Given the description of an element on the screen output the (x, y) to click on. 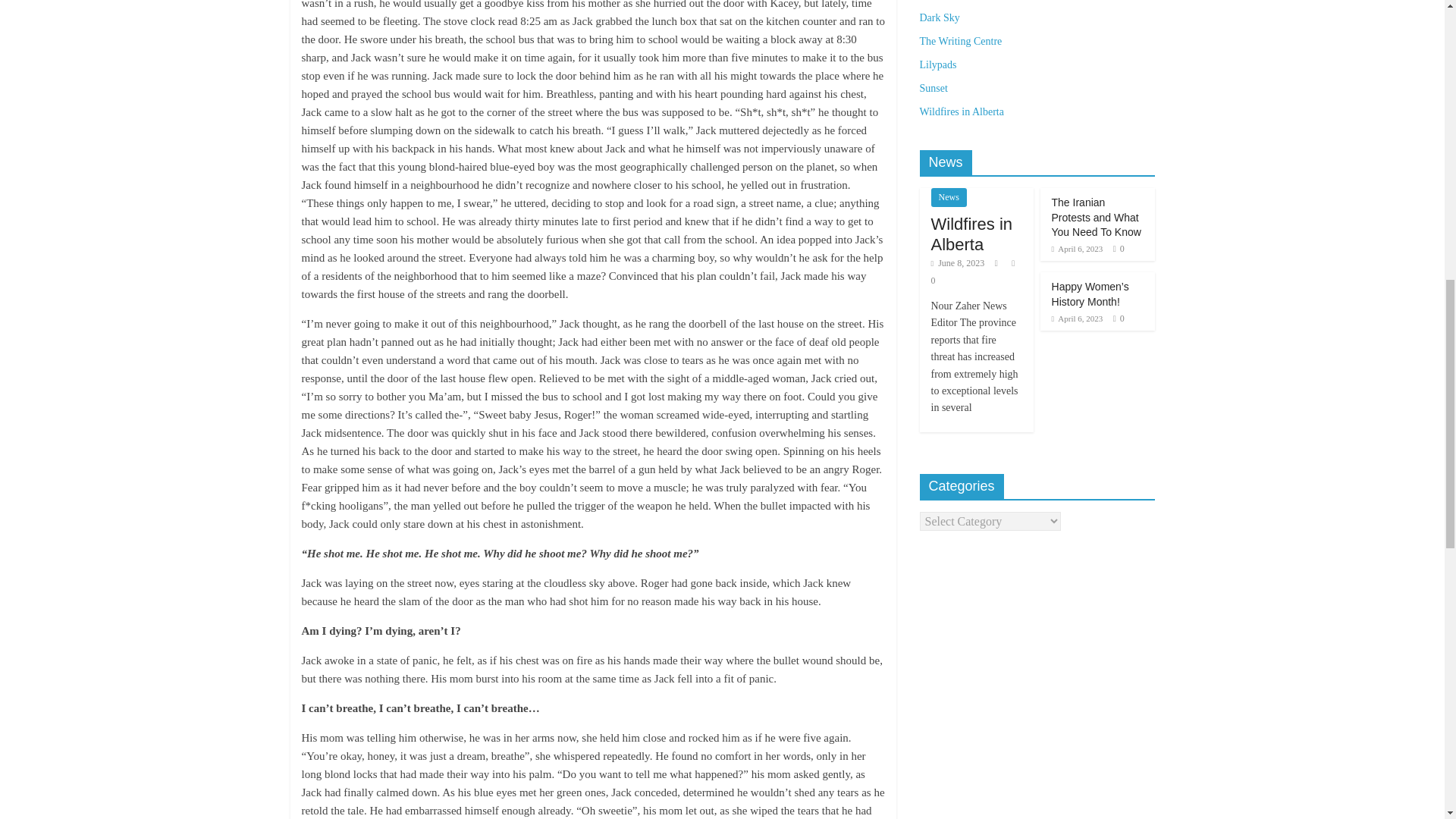
8:30 am (1077, 248)
The Iranian Protests and What You Need To Know (1096, 217)
9:34 am (958, 262)
8:30 am (1077, 317)
Wildfires in Alberta (972, 233)
